Given the description of an element on the screen output the (x, y) to click on. 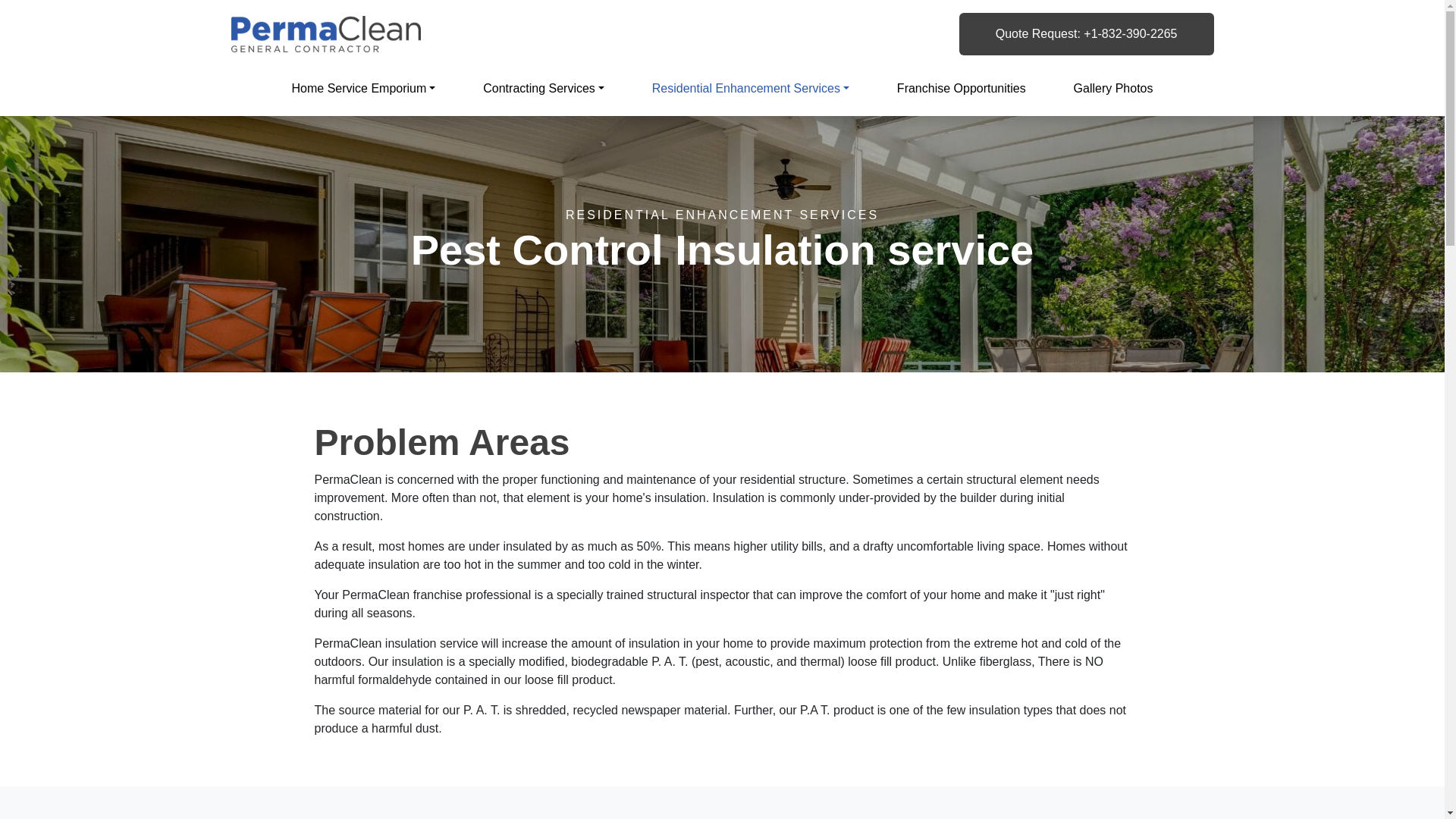
Franchise Opportunities (961, 88)
Home Service Emporium (363, 88)
Residential Enhancement Services (751, 88)
Gallery Photos (1112, 88)
Contracting Services (543, 88)
